Given the description of an element on the screen output the (x, y) to click on. 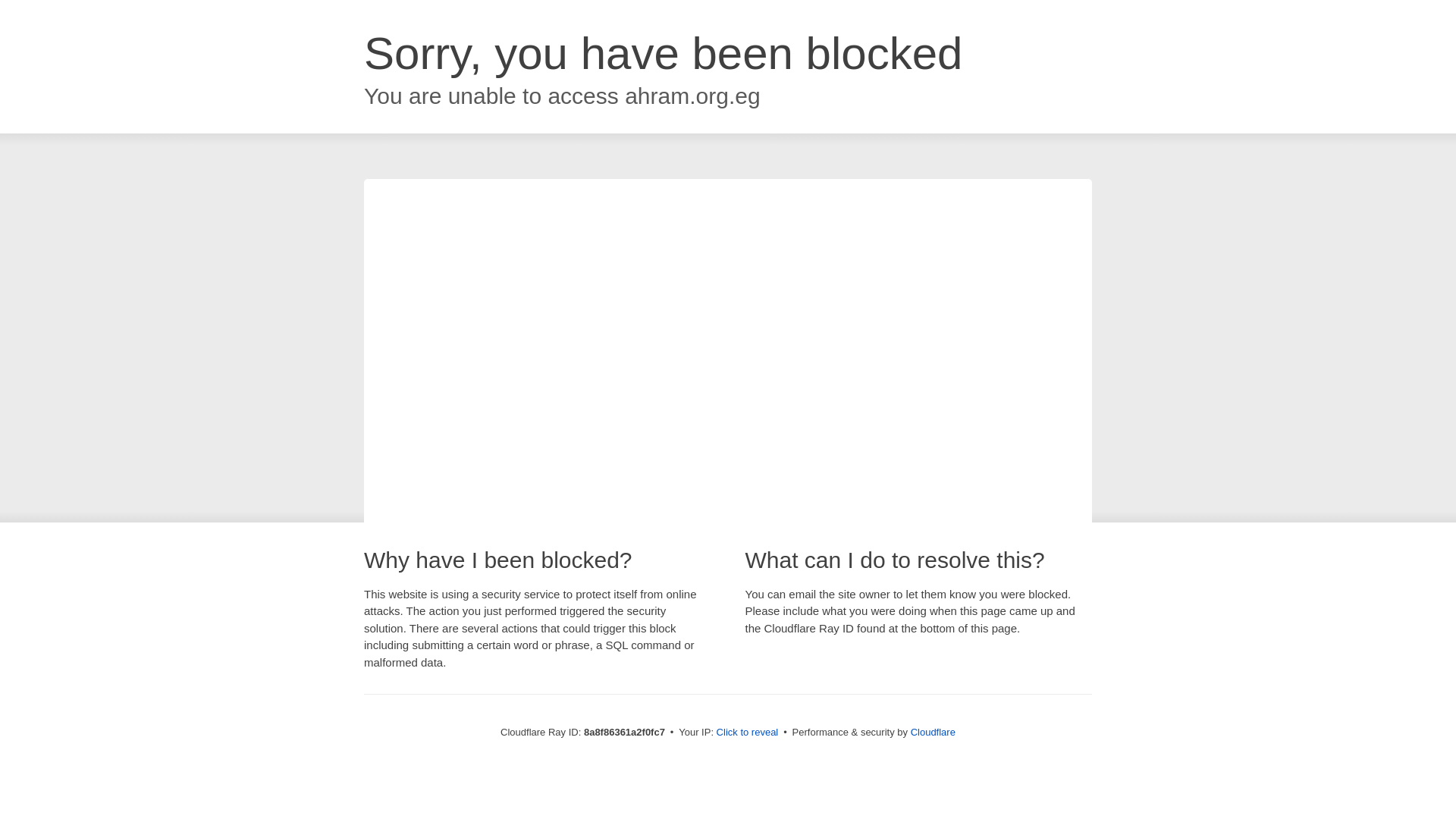
Click to reveal (747, 732)
Cloudflare (933, 731)
